Given the description of an element on the screen output the (x, y) to click on. 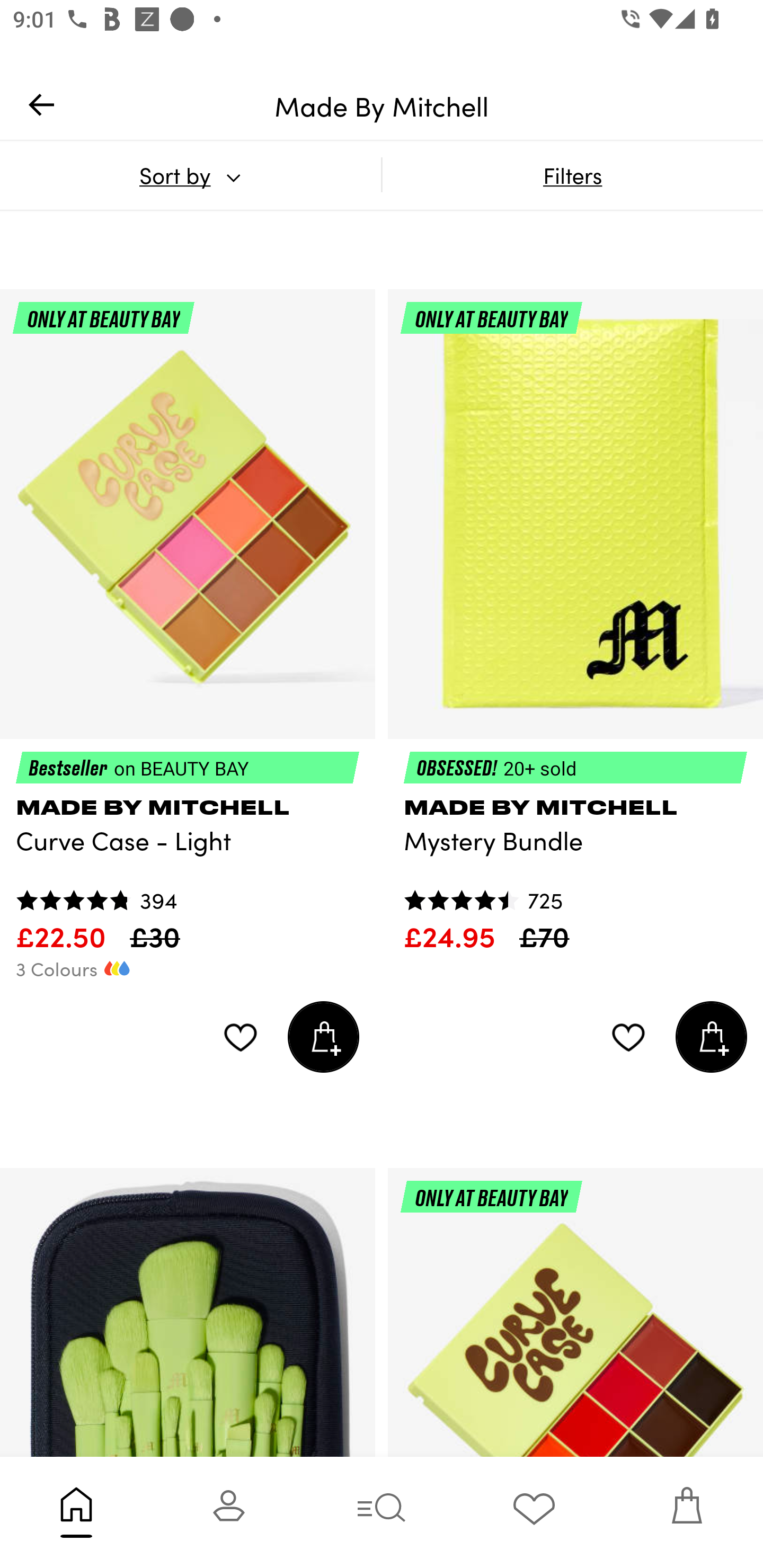
Sort by (190, 174)
Filters (572, 174)
